Given the description of an element on the screen output the (x, y) to click on. 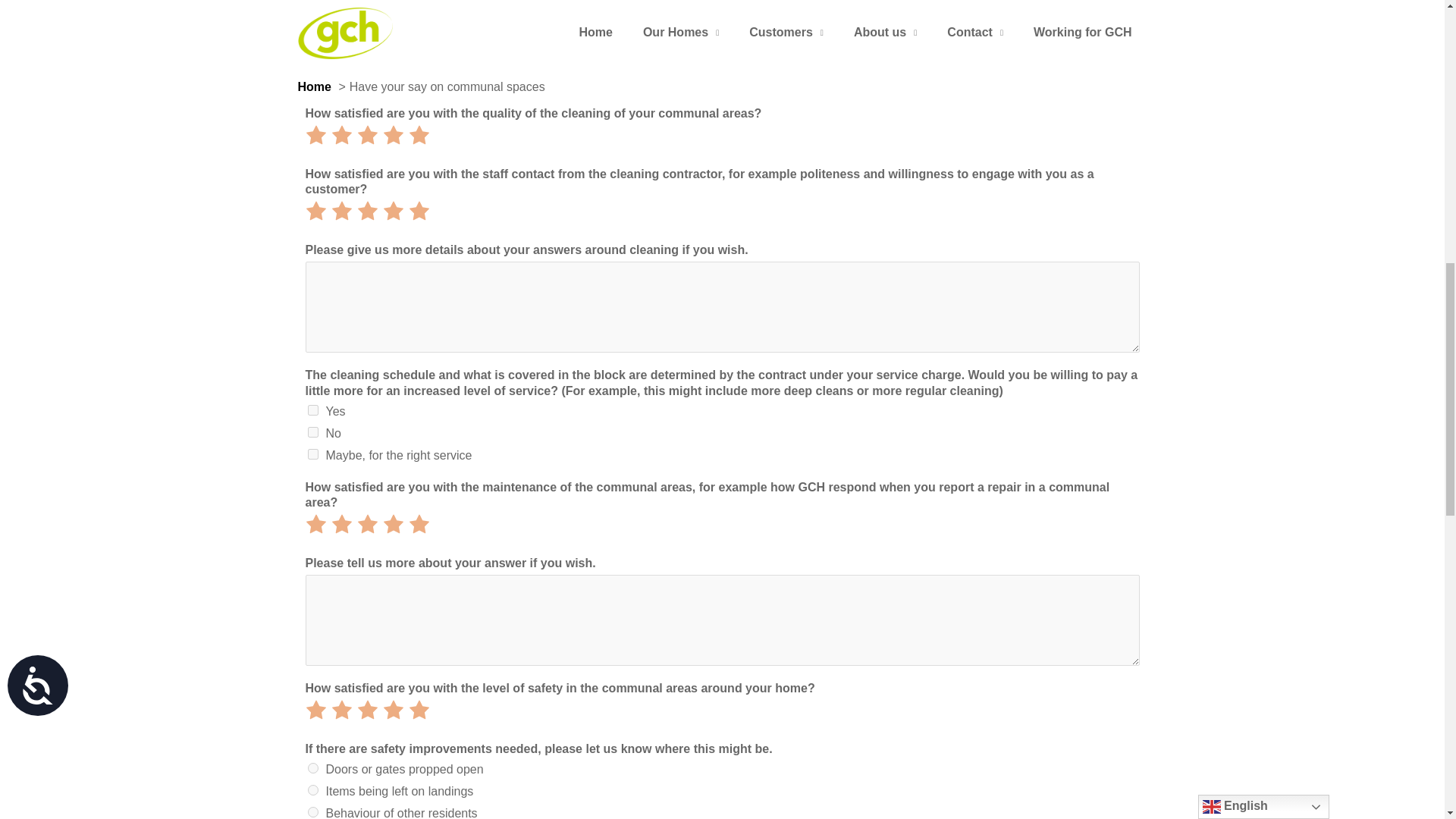
No (312, 431)
Maybe, for the right service (312, 453)
Yes (312, 409)
